Given the description of an element on the screen output the (x, y) to click on. 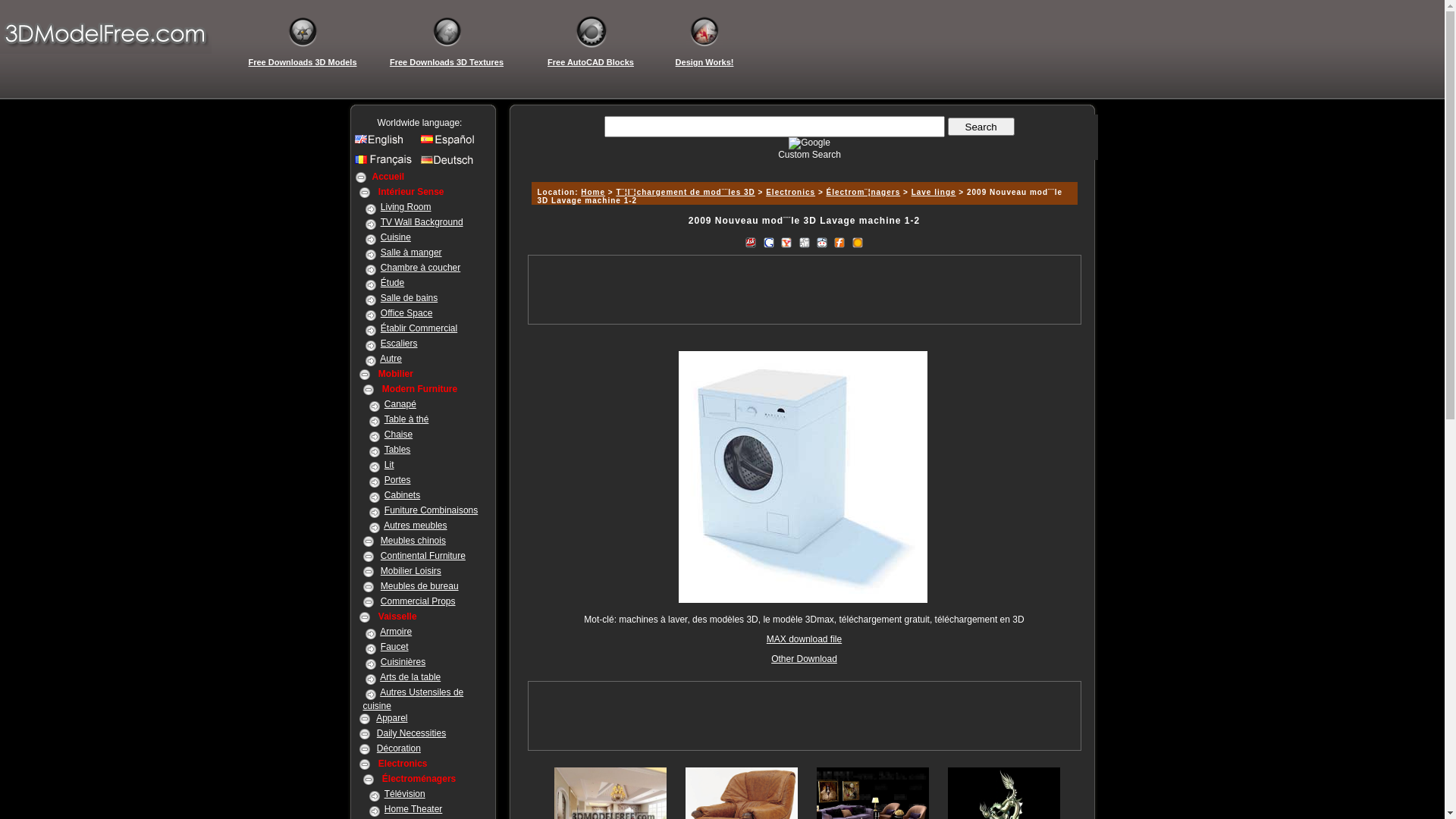
Autres Ustensiles de cuisine Element type: text (412, 699)
Continental Furniture Element type: text (422, 555)
Germany site Element type: hover (450, 163)
Advertisement Element type: hover (802, 165)
bookmark to Jeeves Element type: hover (750, 241)
Advertisement Element type: hover (803, 336)
Mobilier Loisirs Element type: text (410, 570)
Daily Necessities Element type: text (410, 733)
Electronics Element type: text (790, 192)
Free Downloads 3D Models Element type: text (302, 61)
Arts de la table Element type: text (409, 676)
Cabinets Element type: text (402, 494)
Home Element type: text (592, 192)
Autres meubles Element type: text (414, 525)
Bookmark to Google Element type: hover (768, 241)
Add to ma.gnolia Element type: hover (857, 241)
Living Room Element type: text (405, 206)
Faucet Element type: text (394, 646)
Vaisselle Element type: text (397, 616)
Mobilier Element type: text (395, 373)
Salle de bains Element type: text (408, 297)
Chaise Element type: text (398, 434)
Apparel Element type: text (391, 717)
Portes Element type: text (397, 479)
Cuisine Element type: text (395, 237)
Office Space Element type: text (406, 312)
Digg This! Element type: hover (803, 241)
Modern Furniture Element type: text (419, 388)
Design Works! Element type: text (703, 61)
Advertisement Element type: hover (803, 715)
Meubles chinois Element type: text (412, 540)
Lit Element type: text (389, 464)
MAX download file Element type: text (803, 638)
Commercial Props Element type: text (417, 601)
TV Wall Background Element type: text (421, 221)
Free AutoCAD Blocks Element type: text (590, 61)
Add to reddit Element type: hover (821, 241)
Funiture Combinaisons Element type: text (430, 510)
Armoire Element type: text (395, 631)
bookmark to Yahoo! MyWeb Element type: hover (785, 241)
ABookmark  To Furl Element type: hover (839, 241)
Lave linge Element type: text (933, 192)
English site Element type: hover (384, 143)
Escaliers Element type: text (398, 343)
Electronics Element type: text (402, 763)
Meubles de bureau Element type: text (419, 585)
Other Download Element type: text (804, 658)
Free Downloads 3D Textures Element type: text (446, 61)
    Search     Element type: text (980, 126)
Home Theater Element type: text (413, 808)
Spanish site Element type: hover (450, 143)
Autre Element type: text (390, 358)
France site Element type: hover (384, 163)
Advertisement Element type: hover (803, 289)
Accueil Element type: text (387, 176)
Tables Element type: text (397, 449)
